Given the description of an element on the screen output the (x, y) to click on. 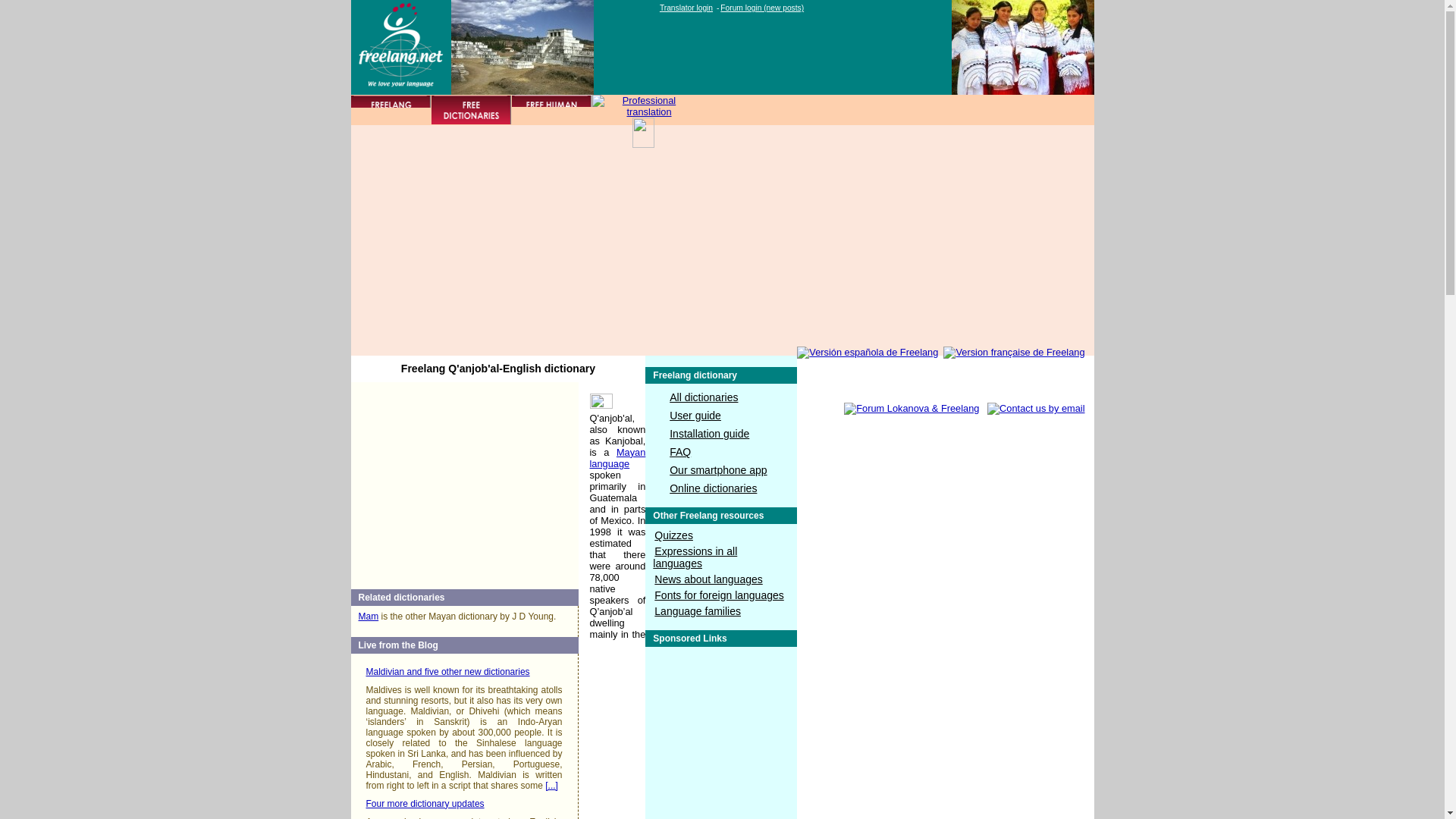
Look up words from your browser (713, 488)
Free downloadable and online dictionaries (470, 110)
Our blog: articles about languages (707, 579)
Four more dictionary updates (424, 803)
Maldivian and five other new dictionaries (447, 671)
Common expressions translated in many languages (694, 557)
Q'anjob'al translator by Freelang (1021, 47)
Language families (697, 611)
Mam (368, 615)
Free fonts to download to display foreign alphabets (718, 594)
Our smartphone app (718, 469)
Test your knowledge about languages and cultures (673, 535)
All dictionaries (703, 397)
Freelang's homepage (390, 110)
Quizzes (673, 535)
